Given the description of an element on the screen output the (x, y) to click on. 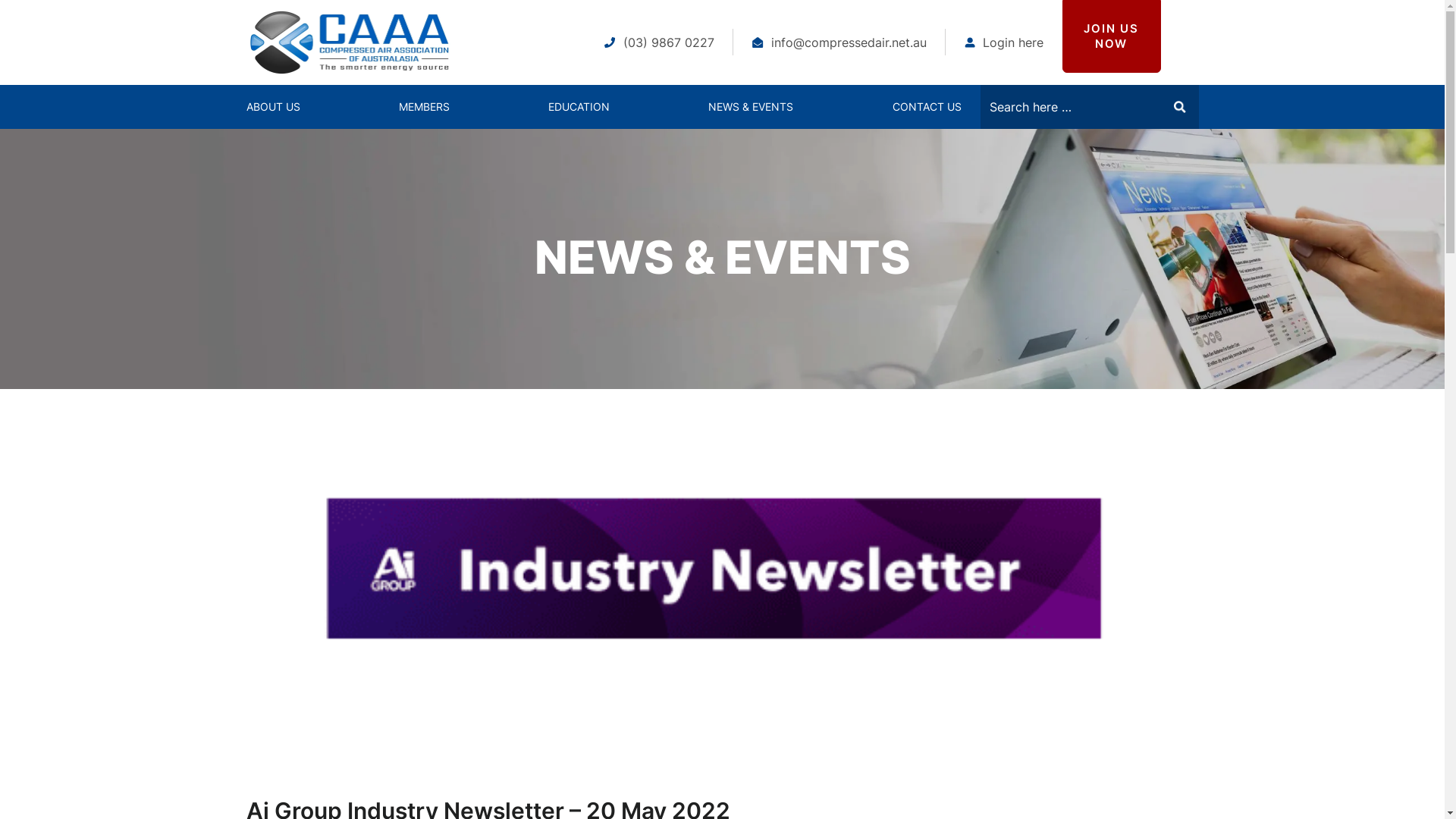
Compressed Air Association of Australia Element type: hover (347, 42)
JOIN US NOW Element type: text (1110, 36)
ABOUT US Element type: text (272, 106)
CONTACT US Element type: text (925, 106)
info@compressedair.net.au Element type: text (839, 42)
EDUCATION Element type: text (578, 106)
MEMBERS Element type: text (423, 106)
NEWS & EVENTS Element type: text (750, 106)
Login here Element type: text (1003, 42)
(03) 9867 0227 Element type: text (658, 42)
